Given the description of an element on the screen output the (x, y) to click on. 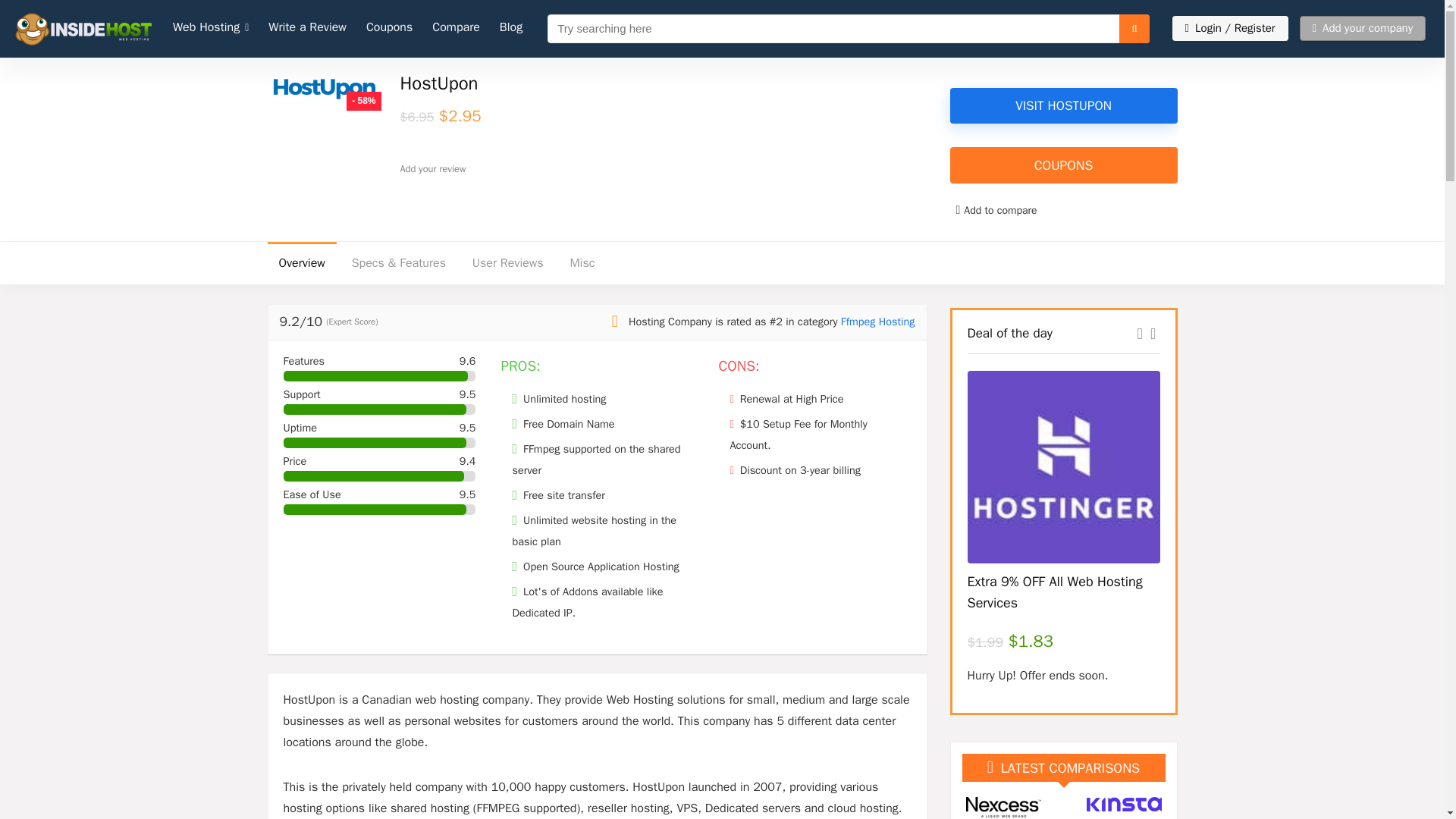
Overview (301, 262)
Web Hosting (211, 28)
Blog (510, 28)
Ffmpeg Hosting (878, 321)
VISIT HOSTUPON (1062, 105)
Coupons (389, 28)
Write a Review (307, 28)
User Reviews (507, 262)
COUPONS (1062, 165)
Top 10 Listing (211, 28)
Misc (581, 262)
Add your review (432, 168)
Compare (455, 28)
Add your company (1362, 27)
